Given the description of an element on the screen output the (x, y) to click on. 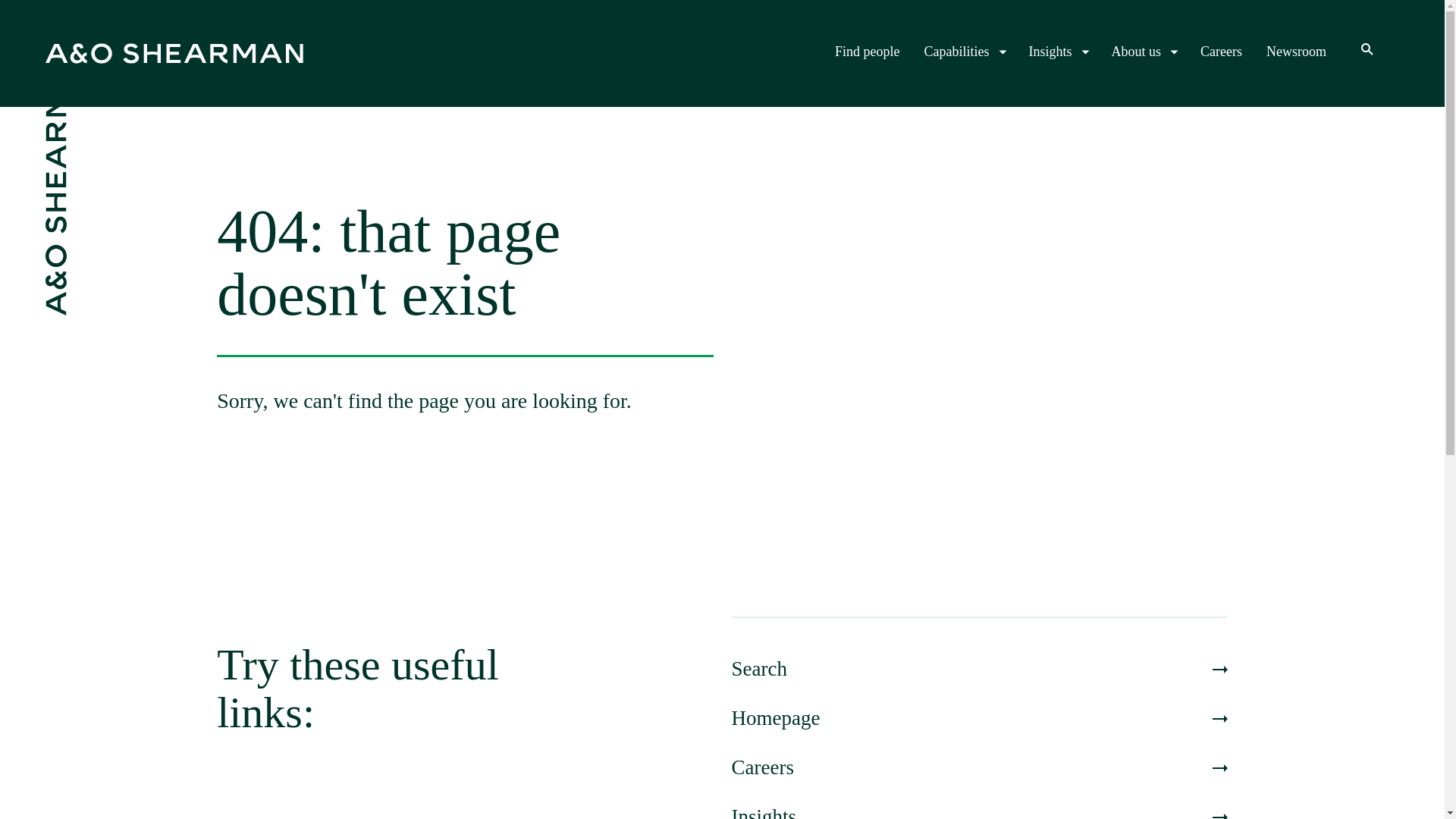
Insights (1056, 51)
Homepage (978, 718)
About us (1144, 51)
Careers (1220, 51)
Capabilities (964, 51)
Insights (978, 811)
Newsroom (1296, 51)
Search (978, 668)
Find people (866, 51)
Careers (978, 767)
